Given the description of an element on the screen output the (x, y) to click on. 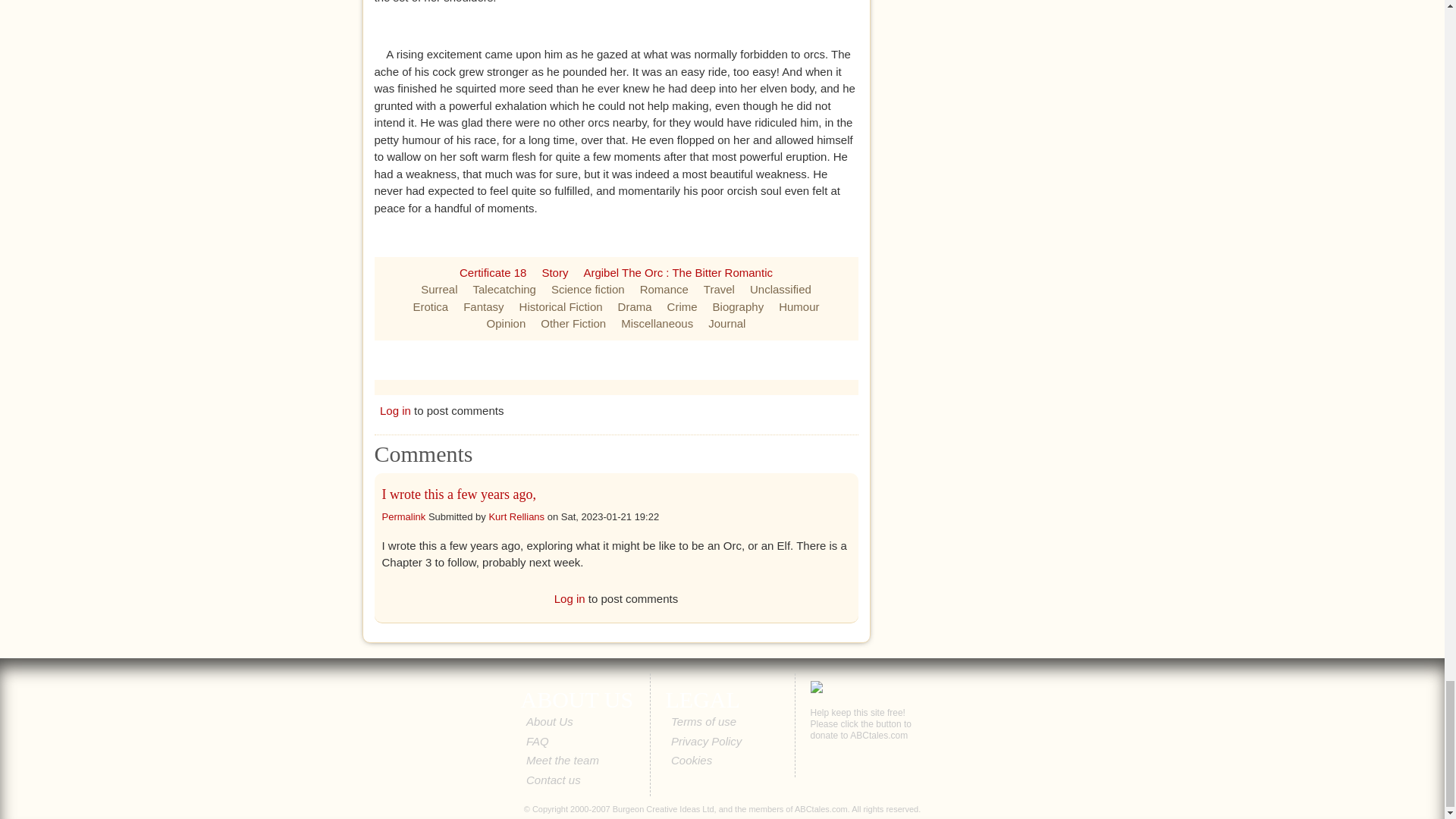
Twitter (627, 359)
Science fiction (587, 288)
Facebook (597, 359)
Permalink (403, 516)
Twitter (627, 359)
Drama (634, 306)
Facebook (597, 359)
Surreal (438, 288)
I wrote this a few years ago, (458, 494)
Journal (726, 323)
Talecatching (504, 288)
Humour (798, 306)
Log in (395, 409)
Certificate 18 (492, 271)
Crime (681, 306)
